Given the description of an element on the screen output the (x, y) to click on. 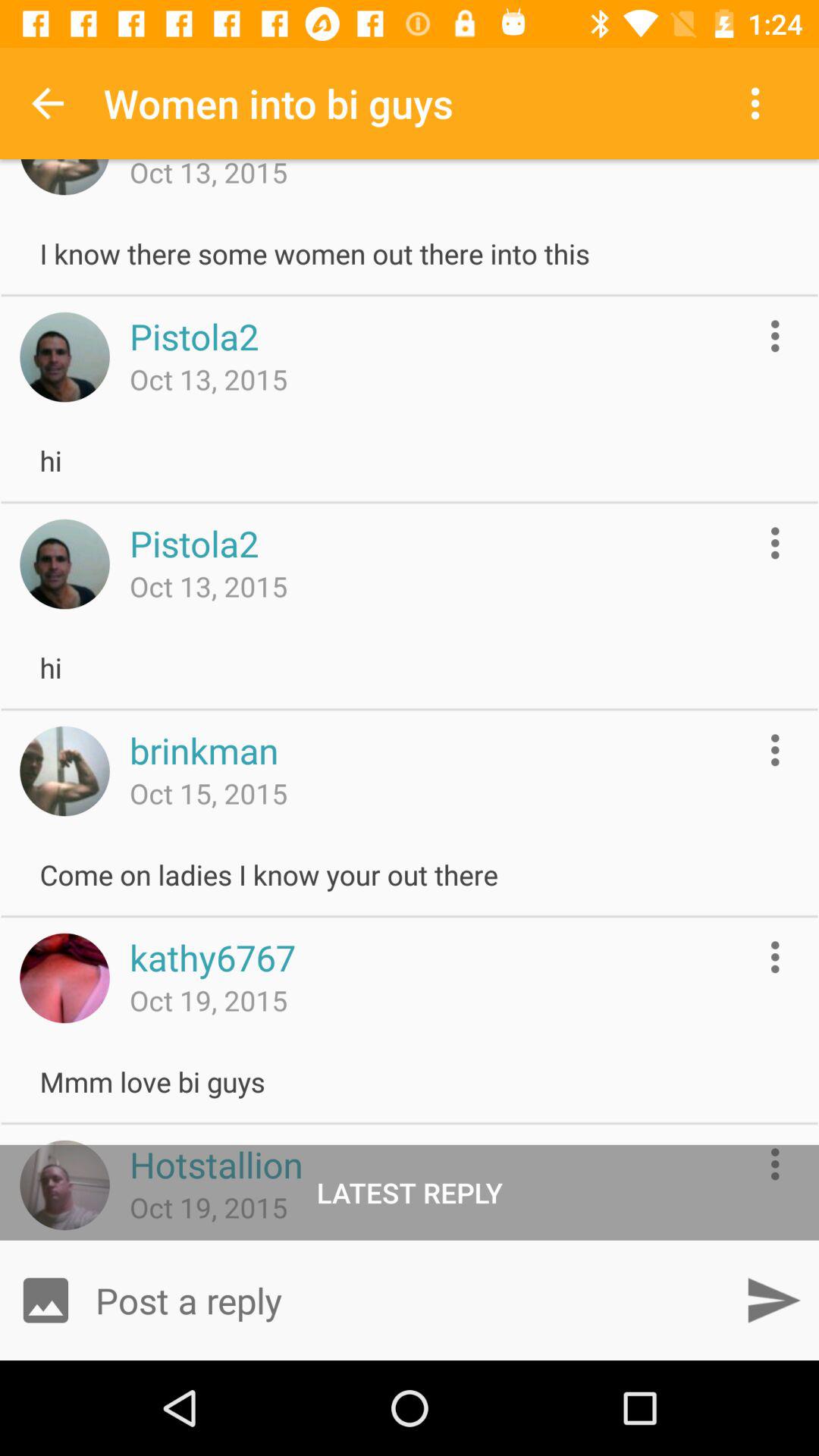
show options (775, 336)
